Given the description of an element on the screen output the (x, y) to click on. 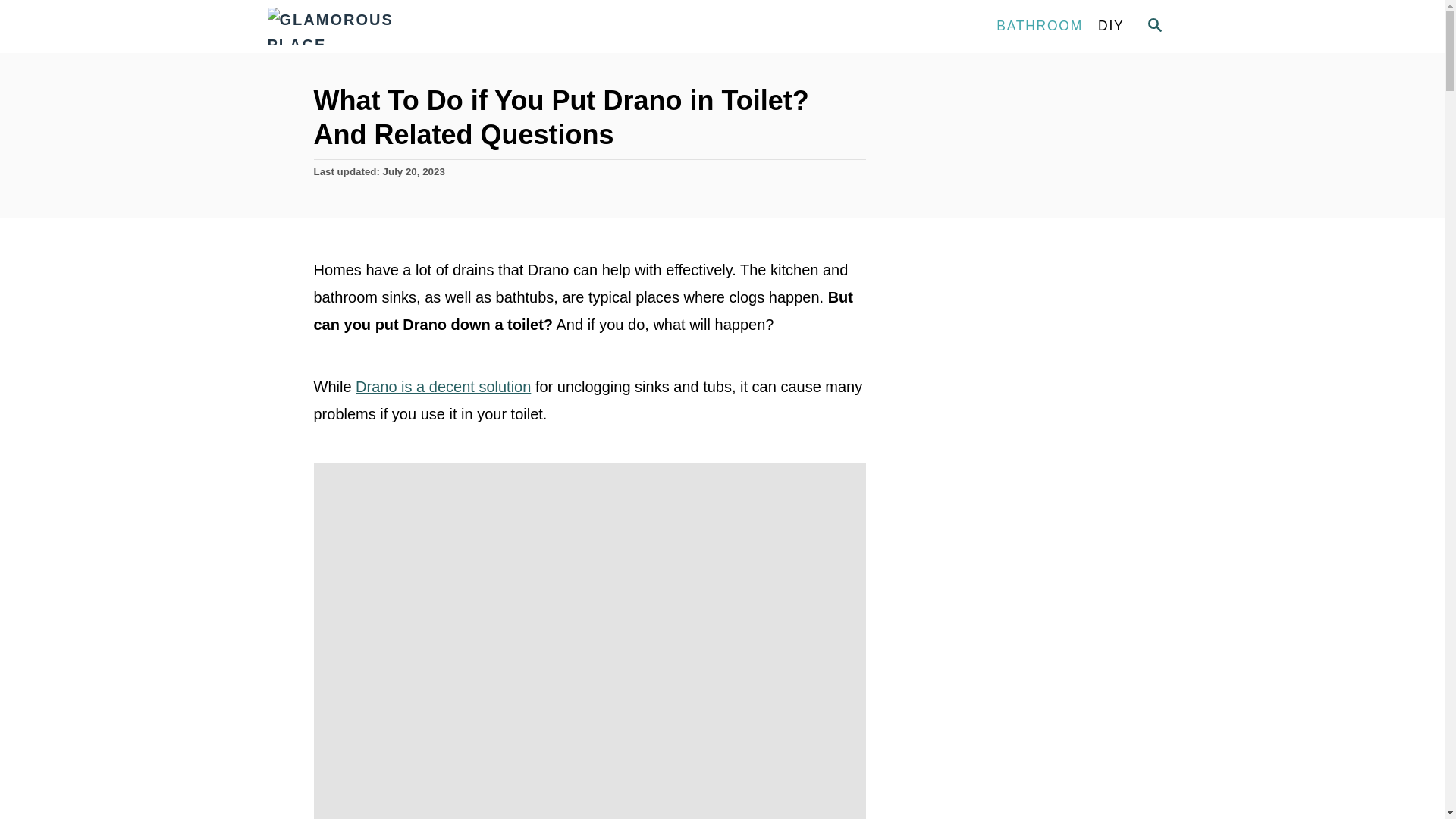
BATHROOM (1039, 26)
SEARCH (1153, 26)
Drano is a decent solution (443, 386)
Glamorous Place (403, 26)
DIY (1110, 26)
